Given the description of an element on the screen output the (x, y) to click on. 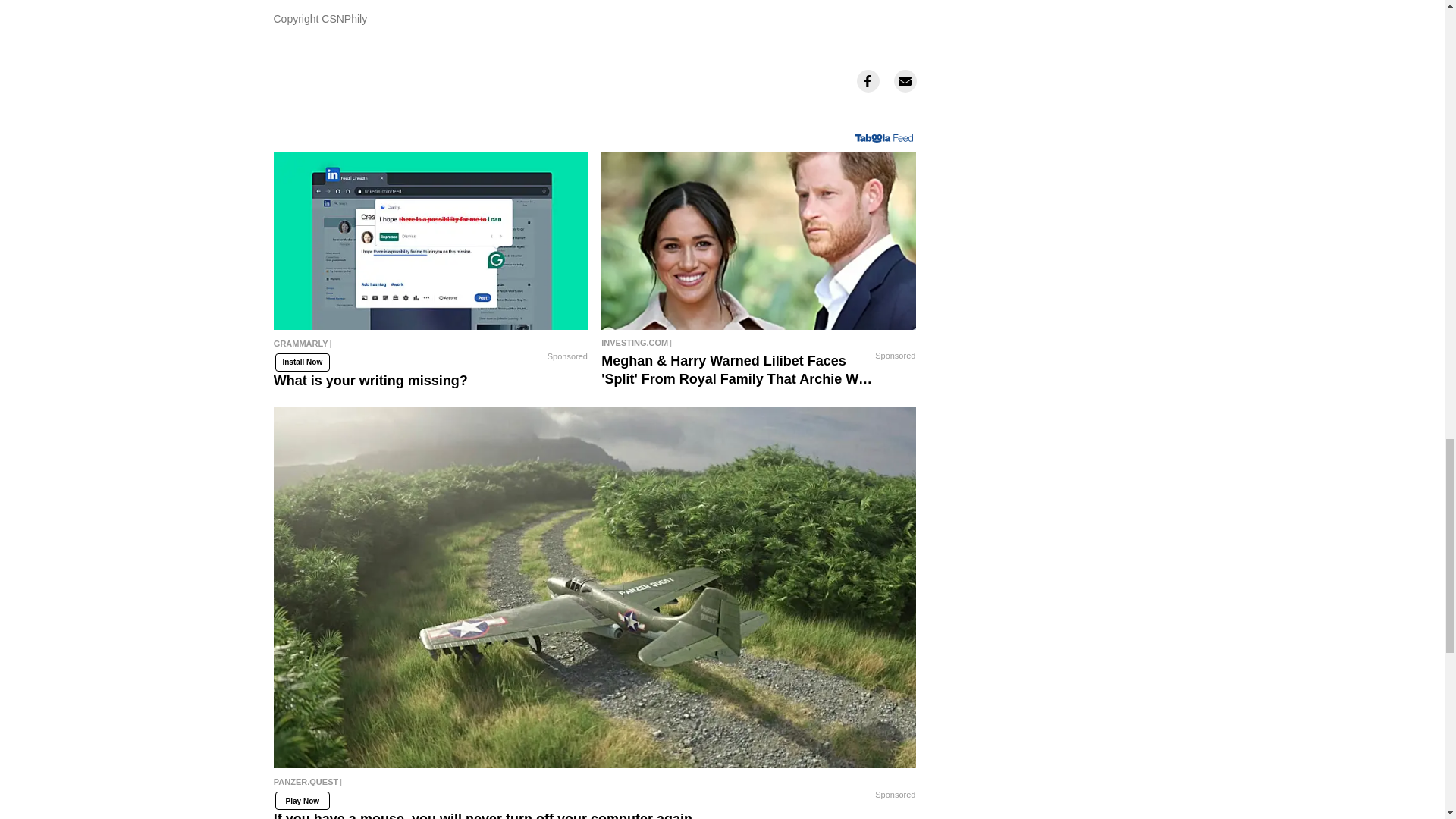
What is your writing missing? (430, 347)
What is your writing missing? (430, 241)
Sponsored (567, 356)
Install Now (302, 361)
